Given the description of an element on the screen output the (x, y) to click on. 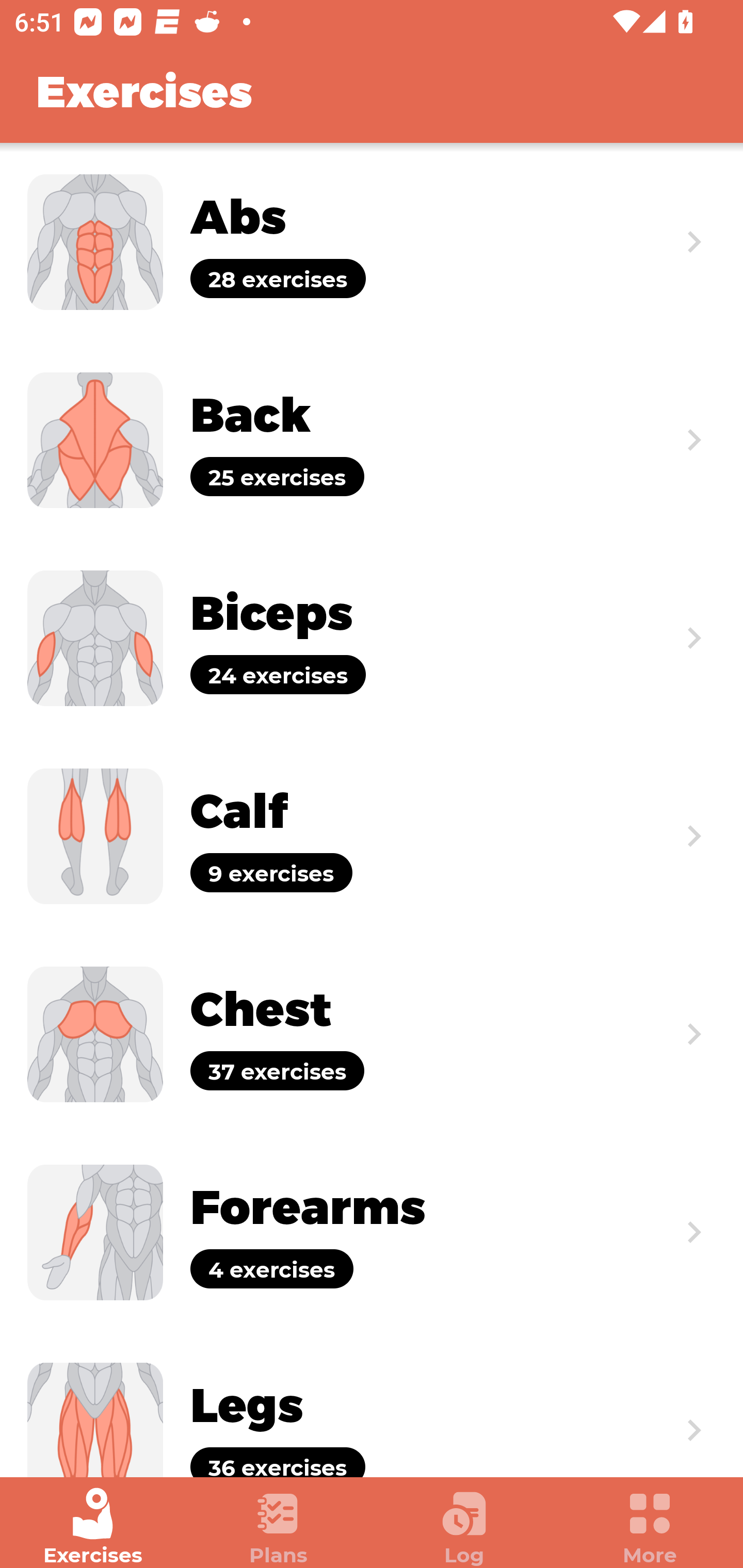
Exercise Abs 28 exercises (371, 241)
Exercise Back 25 exercises (371, 439)
Exercise Biceps 24 exercises (371, 637)
Exercise Calf 9 exercises (371, 836)
Exercise Chest 37 exercises (371, 1033)
Exercise Forearms 4 exercises (371, 1232)
Exercise Legs 36 exercises (371, 1404)
Exercises (92, 1527)
Plans (278, 1527)
Log (464, 1527)
More (650, 1527)
